Given the description of an element on the screen output the (x, y) to click on. 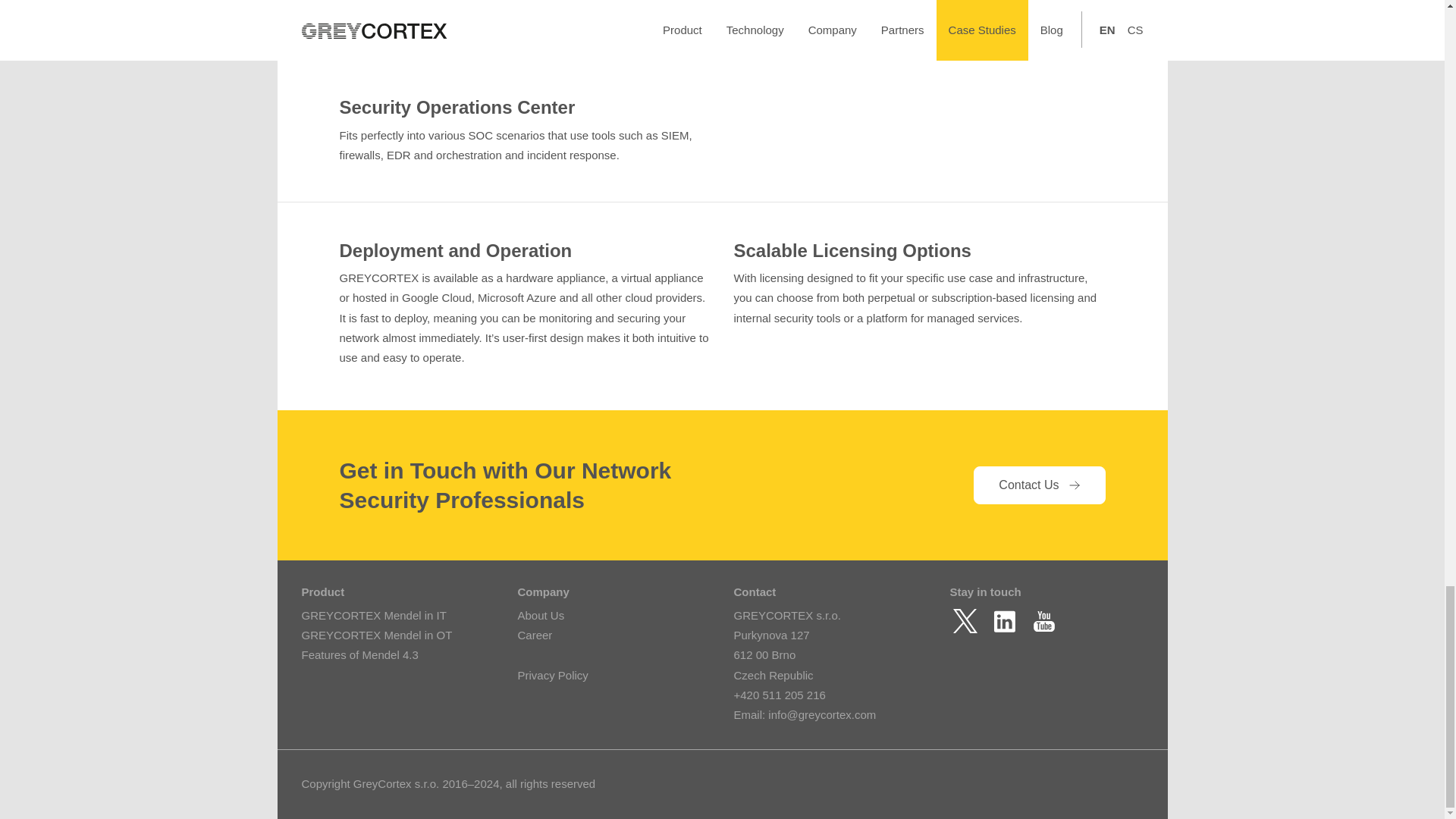
GREYCORTEX Mendel in IT (373, 615)
Contact Us (1039, 485)
GREYCORTEX Mendel in OT (376, 634)
Features of Mendel 4.3 (360, 654)
